Given the description of an element on the screen output the (x, y) to click on. 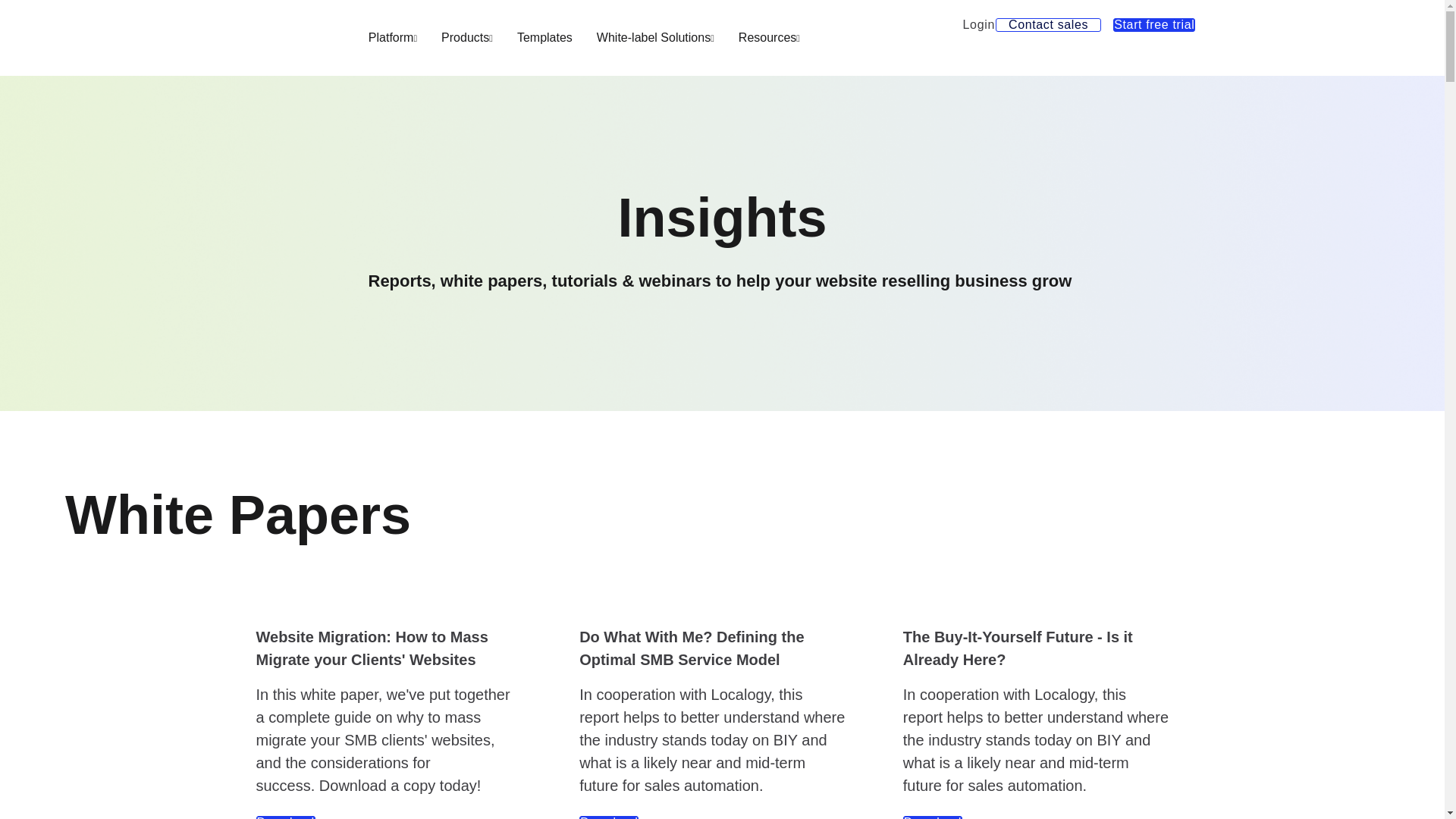
White-label Solutions (655, 37)
Contact sales (1047, 24)
Products (467, 37)
Platform (392, 37)
Templates (545, 37)
Click here to start a free trial (1154, 24)
Login to the Mono Platform (978, 24)
'The Buy-It-Yourself Future' report.  (932, 817)
Resources (769, 37)
